Given the description of an element on the screen output the (x, y) to click on. 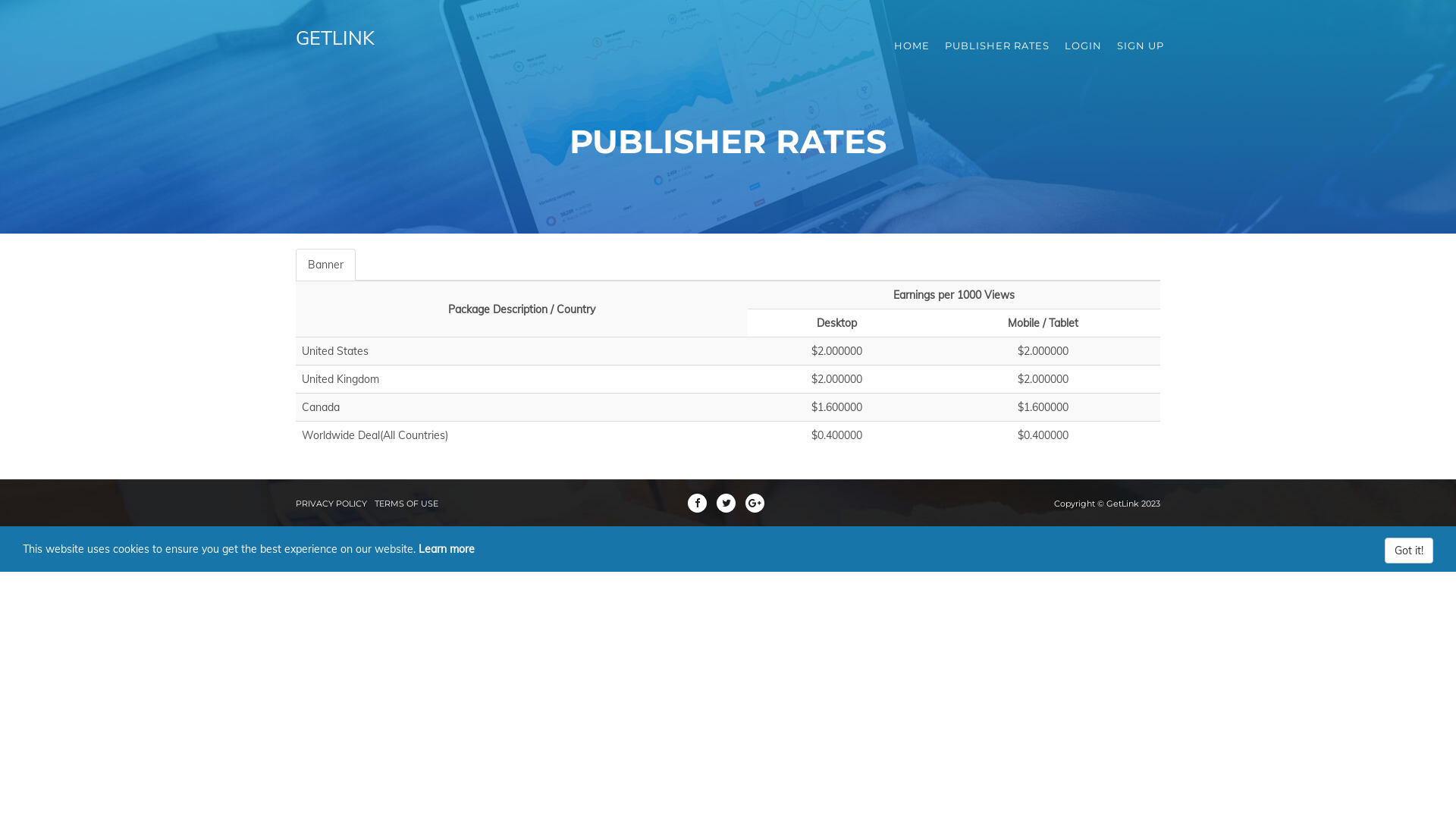
TERMS OF USE Element type: text (406, 503)
GETLINK Element type: text (334, 45)
Banner Element type: text (325, 264)
Learn more Element type: text (446, 548)
Got it! Element type: text (1408, 550)
HOME Element type: text (911, 45)
SIGN UP Element type: text (1140, 45)
LOGIN Element type: text (1083, 45)
PUBLISHER RATES Element type: text (997, 45)
PRIVACY POLICY Element type: text (331, 503)
